Given the description of an element on the screen output the (x, y) to click on. 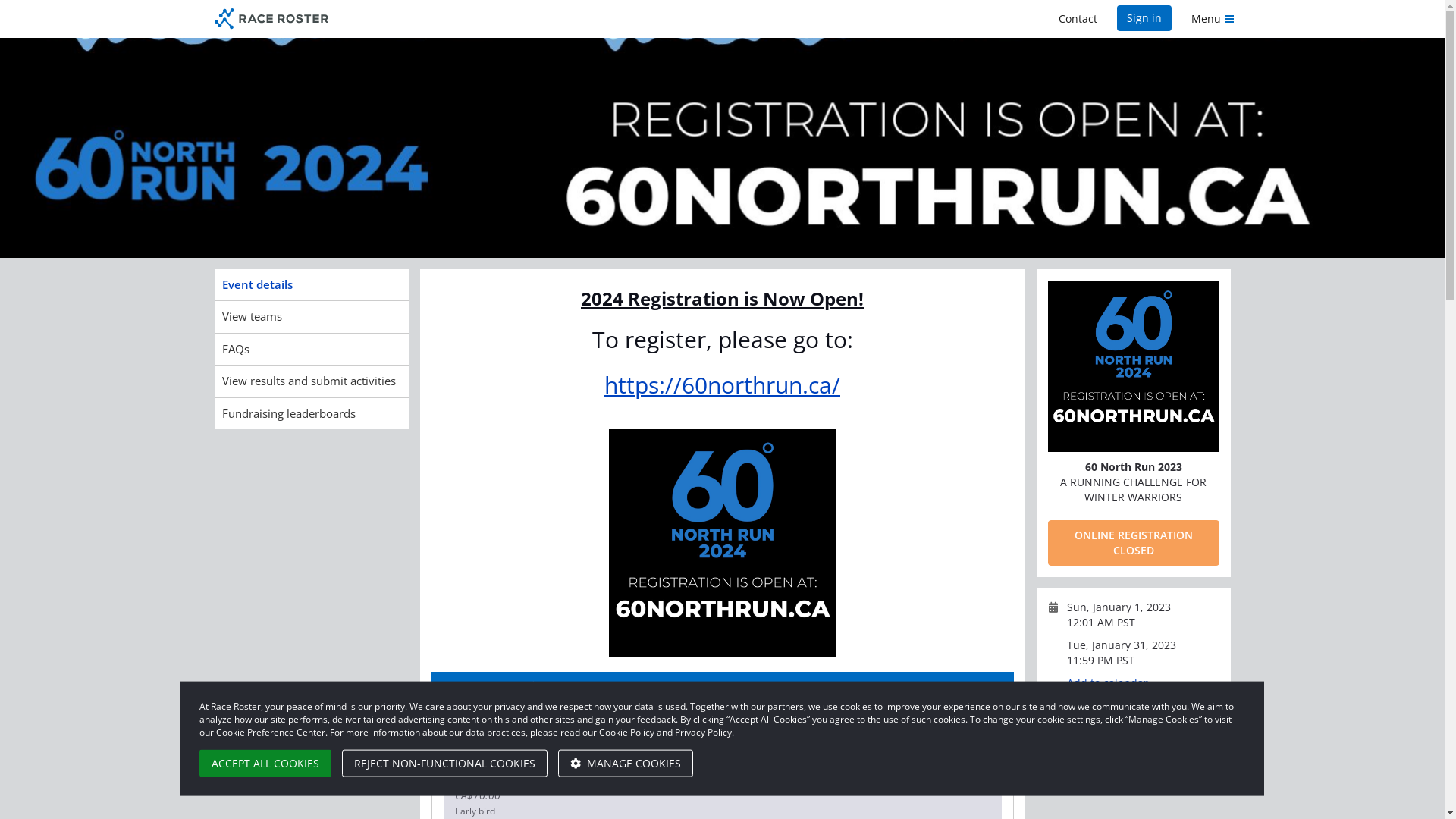
Sign in Element type: text (1143, 18)
https://60northrun.ca/ Element type: text (722, 384)
Contact Element type: text (1076, 18)
Fundraising leaderboards Element type: text (310, 413)
MANAGE COOKIES Element type: text (625, 763)
ONLINE REGISTRATION CLOSED Element type: text (1133, 542)
View results and submit activities Element type: text (310, 380)
Visit Website Element type: text (1105, 721)
ACCEPT ALL COOKIES Element type: text (265, 763)
FAQs Element type: text (310, 348)
REJECT NON-FUNCTIONAL COOKIES Element type: text (444, 763)
Add to calendar Element type: text (1111, 682)
View teams Element type: text (310, 316)
Menu Element type: text (1212, 18)
Event details Element type: text (310, 284)
